Given the description of an element on the screen output the (x, y) to click on. 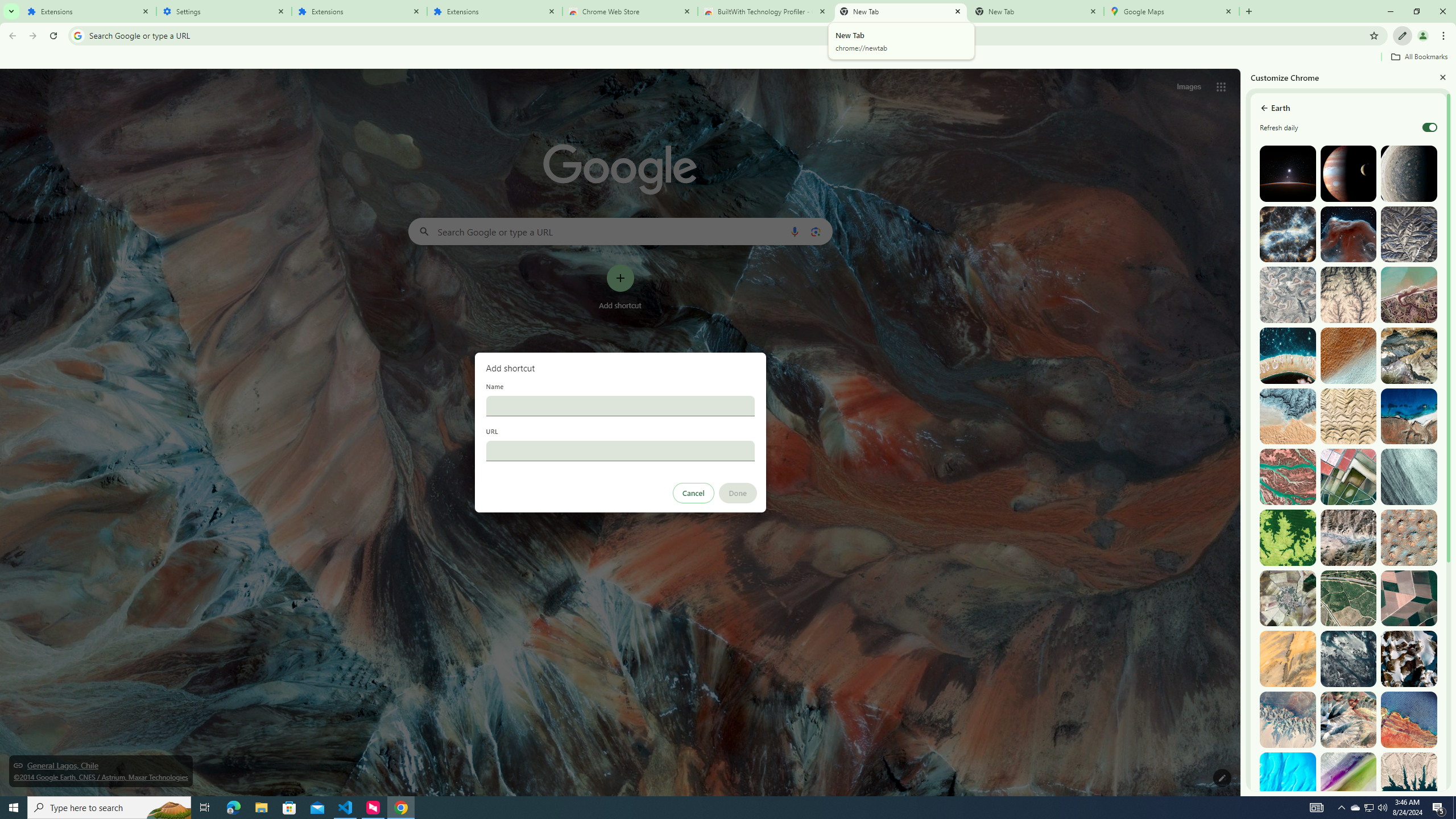
Extensions (88, 11)
Iceland (1408, 476)
Nanggroe Aceh Darussalam, Indonesia (1408, 294)
Rikaze, China (1348, 537)
South Eleuthera, The Bahamas (1287, 780)
BuiltWith Technology Profiler - Chrome Web Store (765, 11)
Isla Cristina, Spain (1348, 598)
Bookmarks (728, 58)
Settings (224, 11)
